Given the description of an element on the screen output the (x, y) to click on. 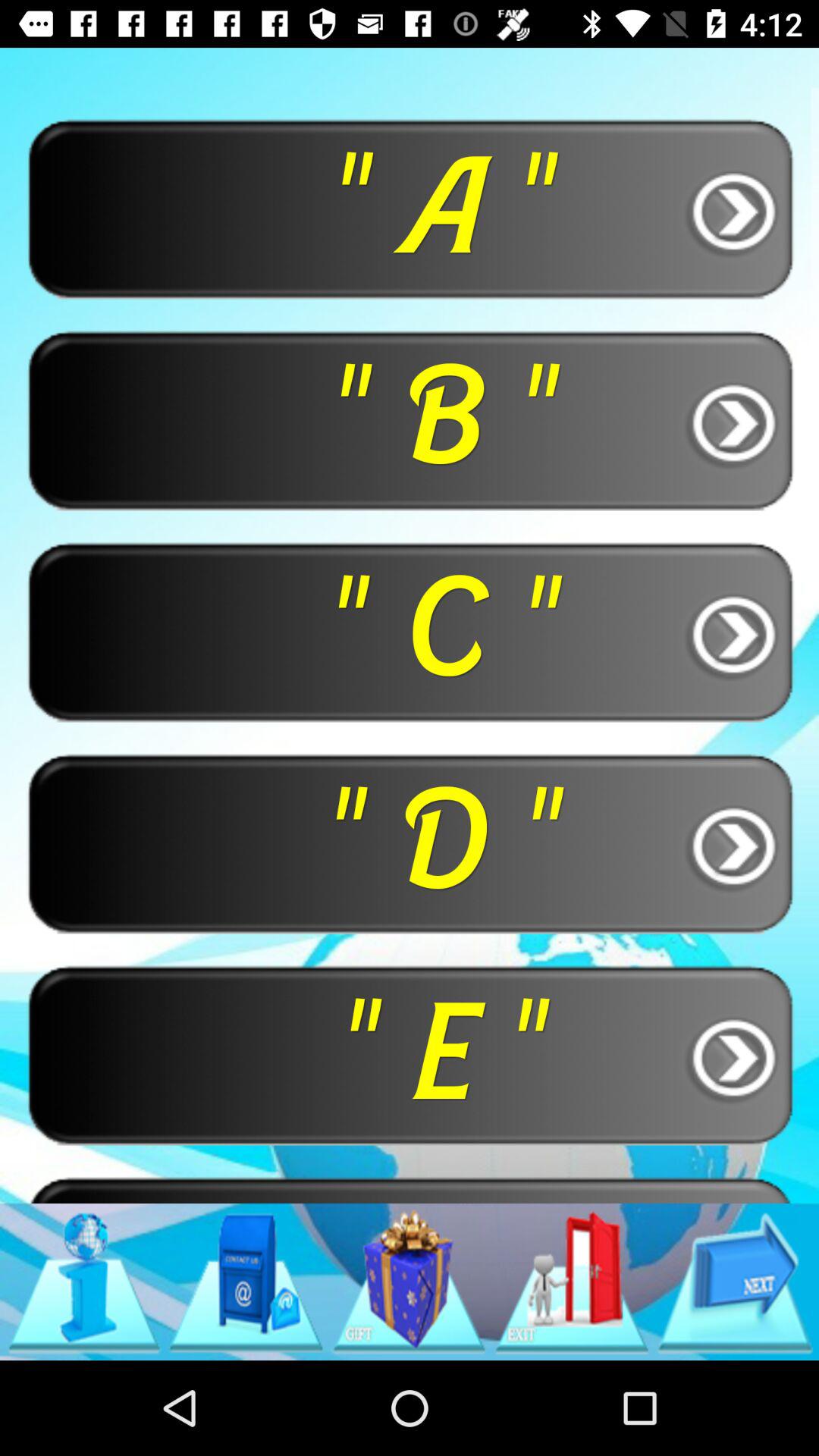
leave (571, 1281)
